Given the description of an element on the screen output the (x, y) to click on. 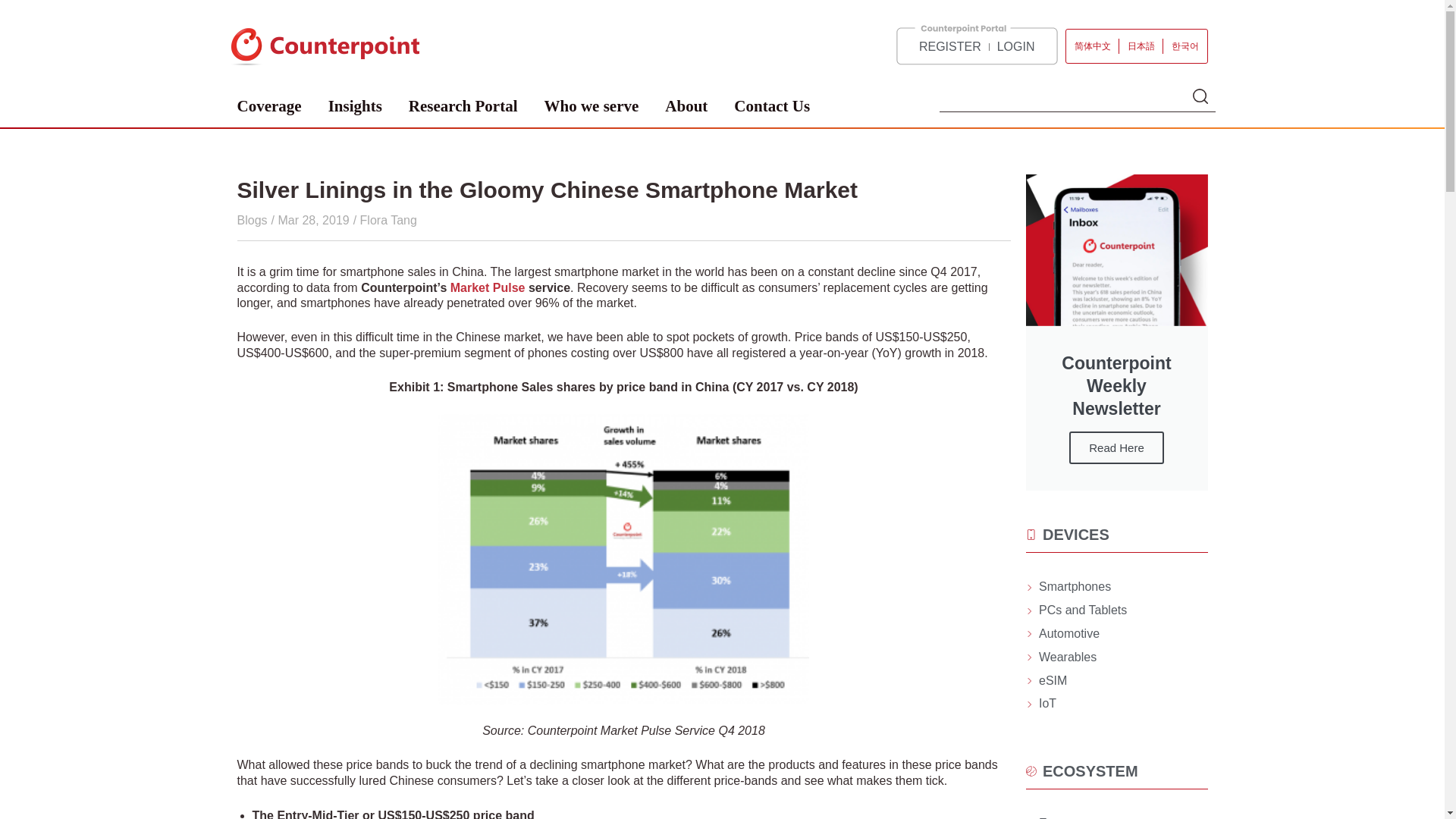
REGISTER (949, 47)
LOGIN (1016, 47)
